Given the description of an element on the screen output the (x, y) to click on. 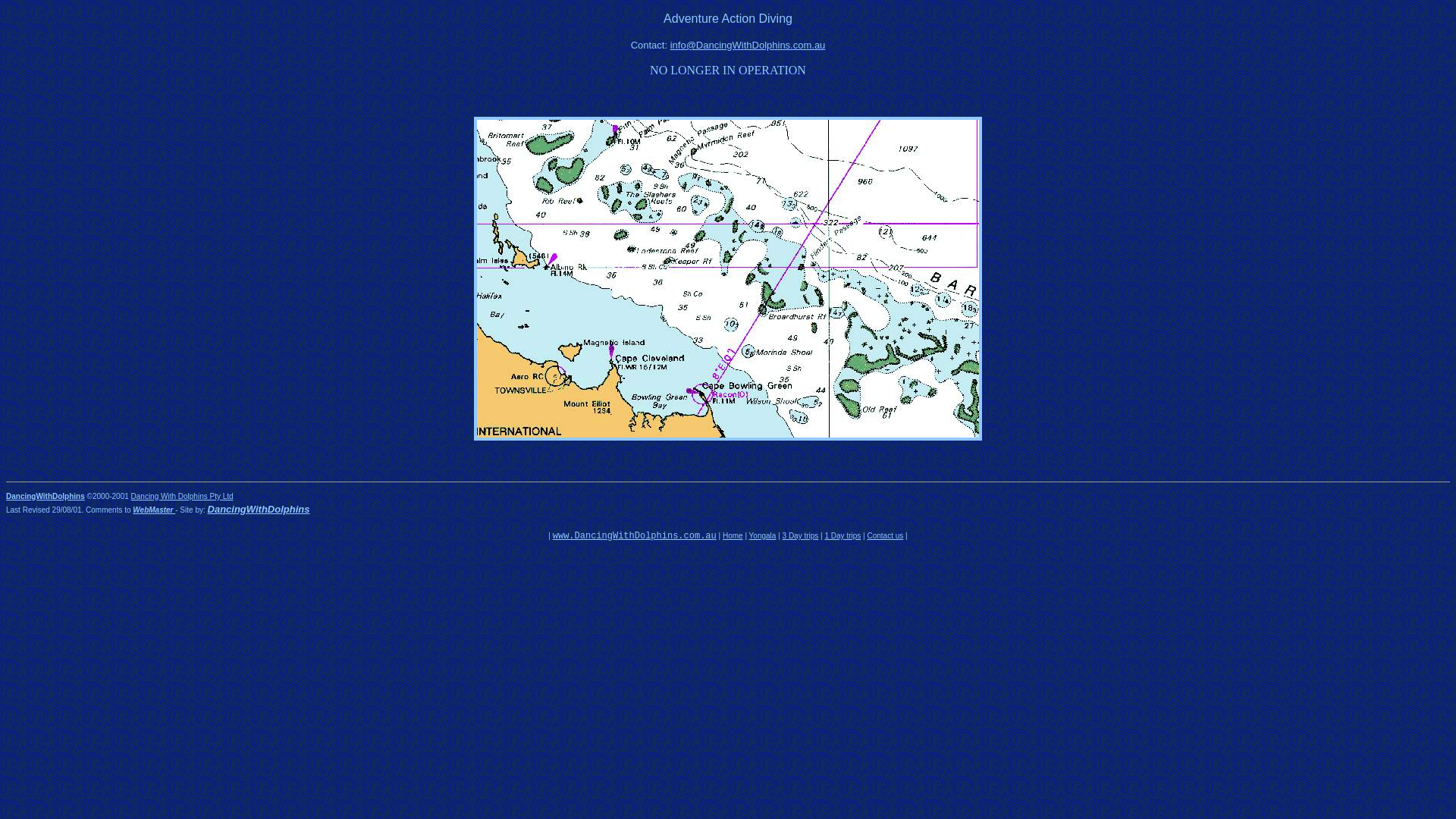
DancingWithDolphins Element type: text (45, 494)
1 Day trips Element type: text (843, 533)
3 Day trips Element type: text (800, 533)
info@DancingWithDolphins.com.au Element type: text (747, 43)
WebMaster Element type: text (153, 508)
Home Element type: text (732, 533)
Contact us Element type: text (884, 533)
DancingWithDolphins Element type: text (258, 508)
Dancing With Dolphins Pty Ltd Element type: text (182, 494)
www.DancingWithDolphins.com.au Element type: text (634, 533)
Yongala Element type: text (762, 533)
